Given the description of an element on the screen output the (x, y) to click on. 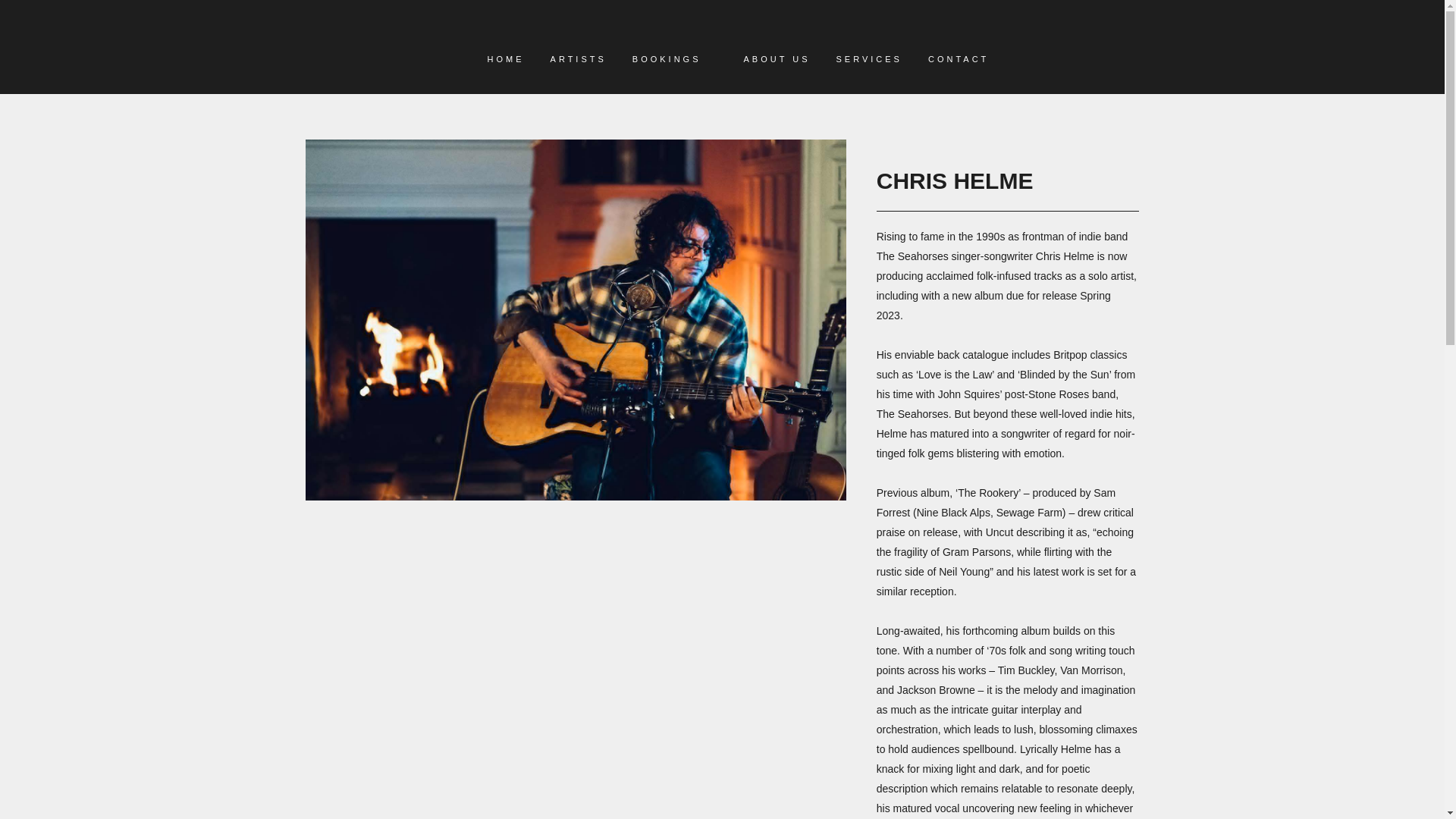
CONTACT (958, 59)
SERVICES (869, 59)
ARTISTS (578, 59)
BOOKINGS (667, 59)
ABOUT US (777, 59)
HOME (505, 59)
